Given the description of an element on the screen output the (x, y) to click on. 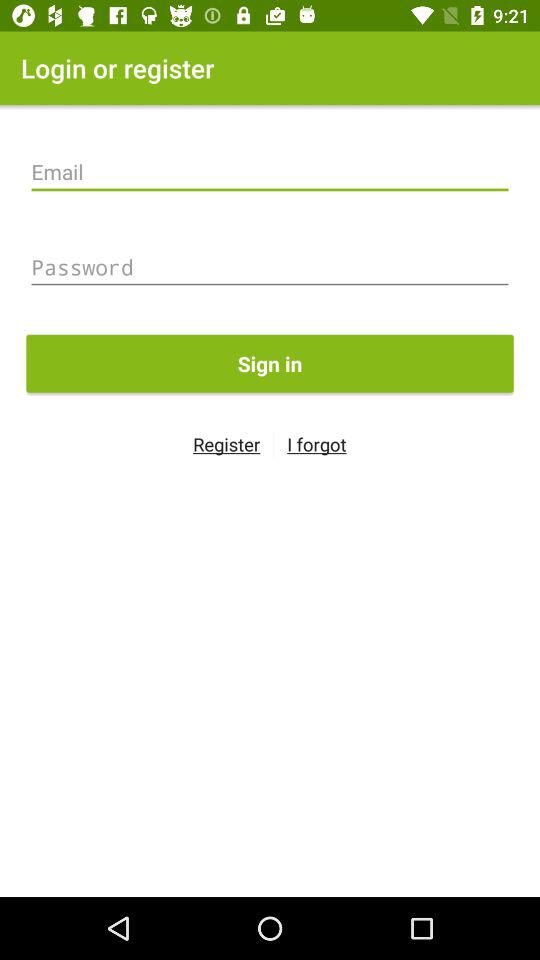
scroll until the i forgot (316, 443)
